Given the description of an element on the screen output the (x, y) to click on. 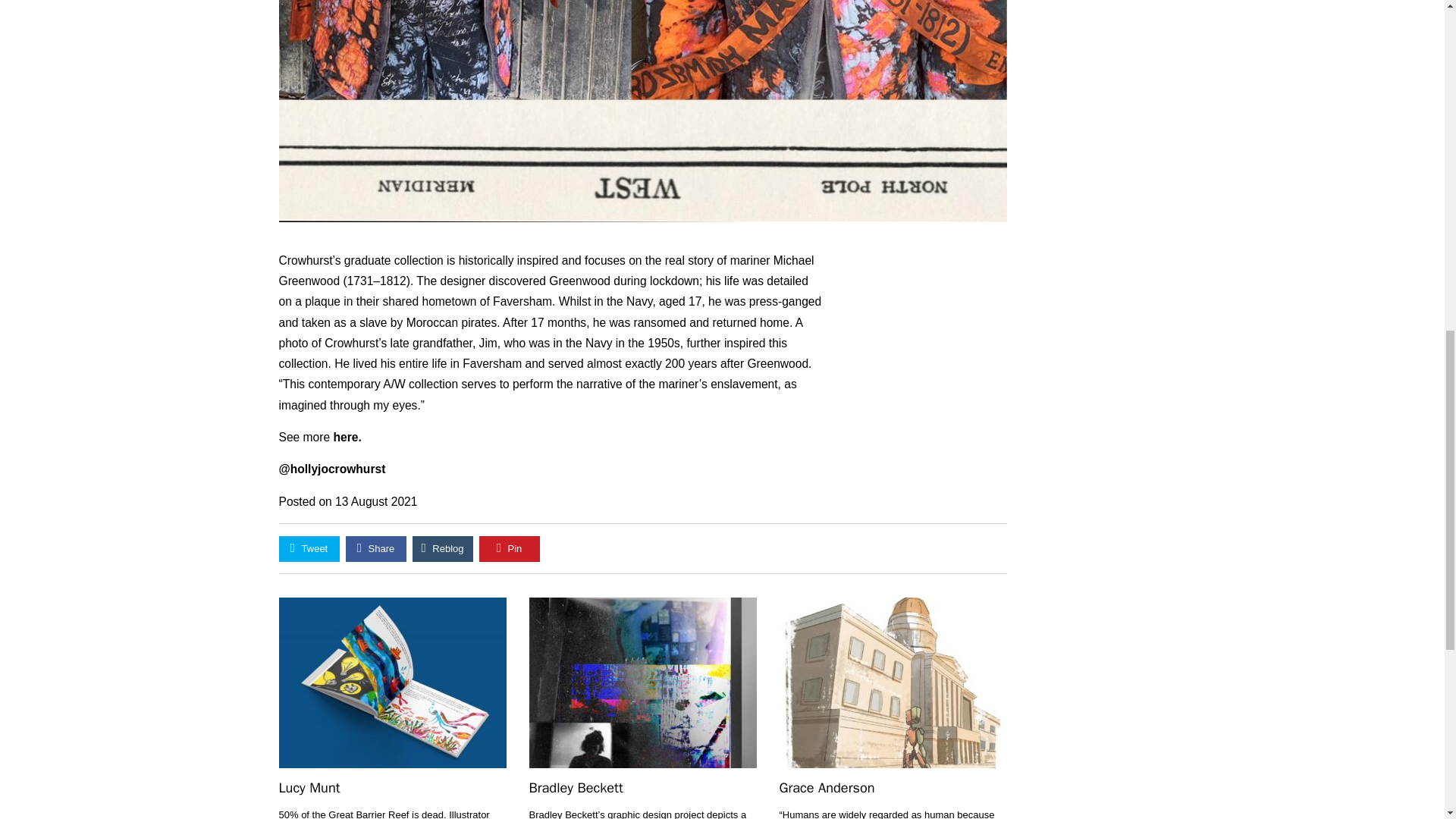
Tweet (309, 548)
here. (347, 436)
Pin (509, 548)
Reblog (442, 548)
Share (376, 548)
